Given the description of an element on the screen output the (x, y) to click on. 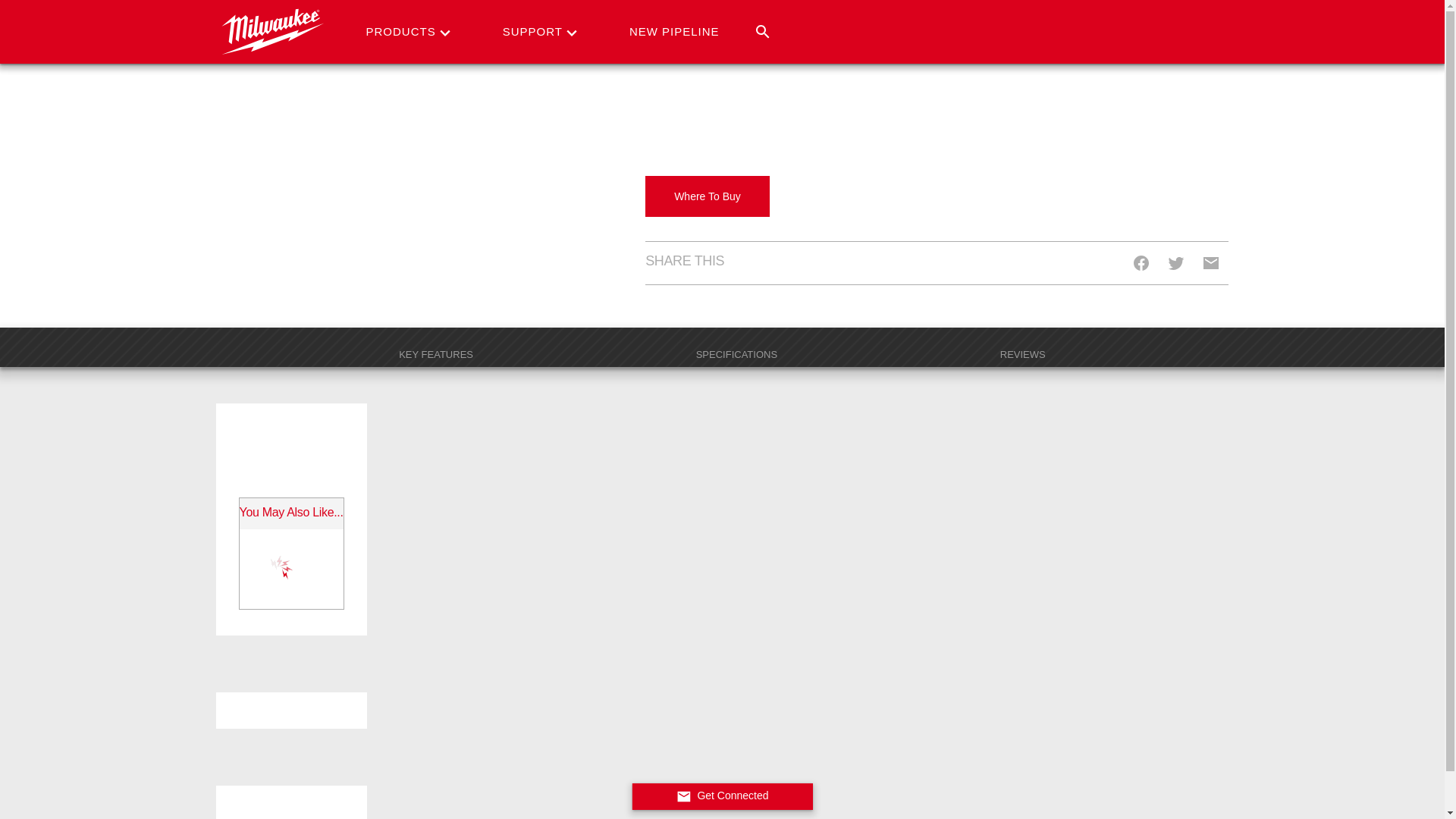
PRODUCTS (402, 31)
NEW PIPELINE (677, 31)
Connect (1159, 26)
KEY FEATURES (435, 353)
SPECIFICATIONS (736, 353)
REVIEWS (1023, 353)
SUPPORT (535, 31)
Your Account (1159, 6)
Logout (1159, 48)
